Given the description of an element on the screen output the (x, y) to click on. 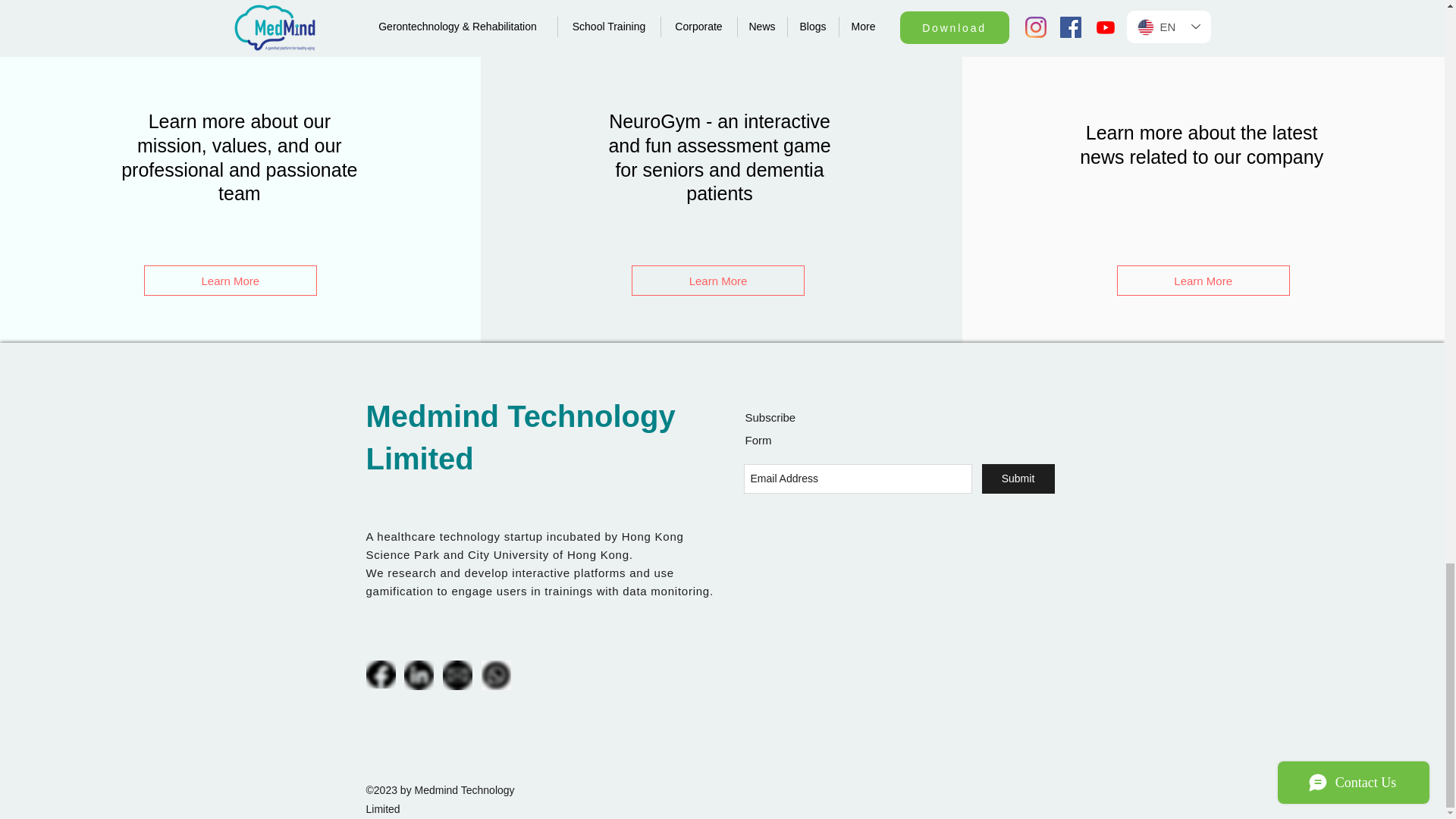
Google Maps (898, 611)
